Given the description of an element on the screen output the (x, y) to click on. 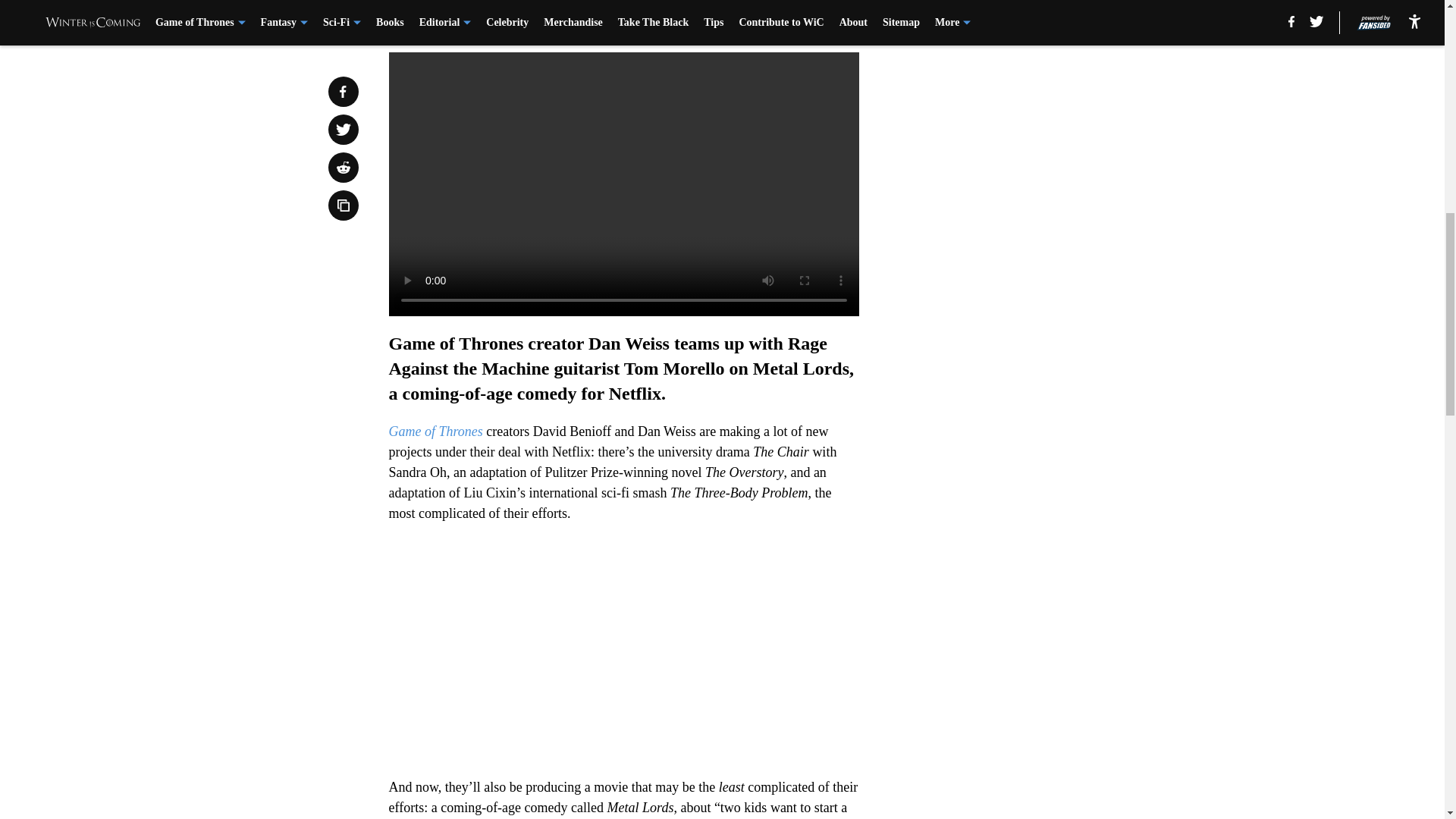
3rd party ad content (1047, 366)
3rd party ad content (1047, 145)
